Given the description of an element on the screen output the (x, y) to click on. 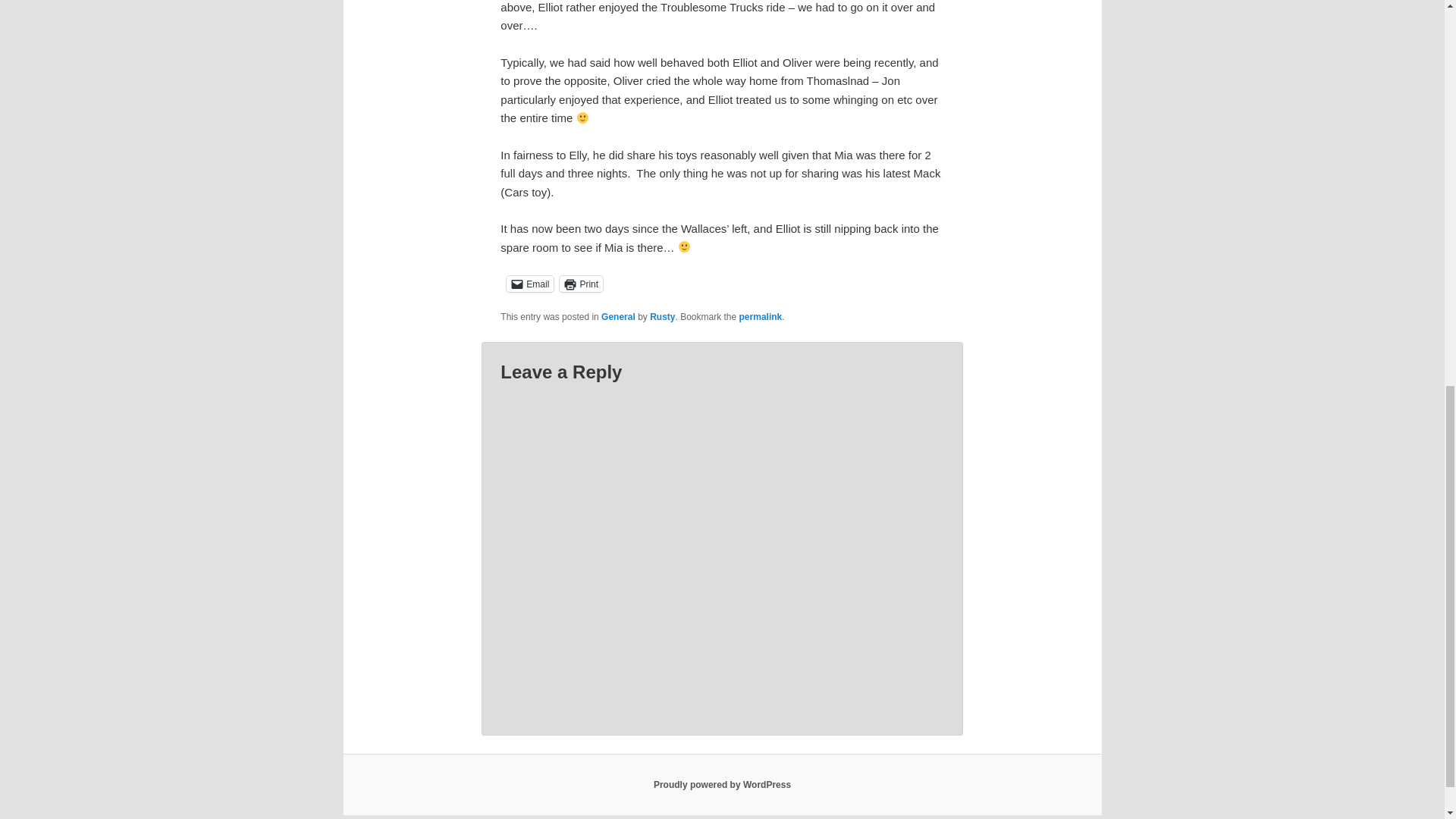
Click to email a link to a friend (529, 283)
Email (529, 283)
Rusty (662, 317)
permalink (761, 317)
Proudly powered by WordPress (721, 784)
Print (580, 283)
Semantic Personal Publishing Platform (721, 784)
Click to print (580, 283)
General (617, 317)
